Given the description of an element on the screen output the (x, y) to click on. 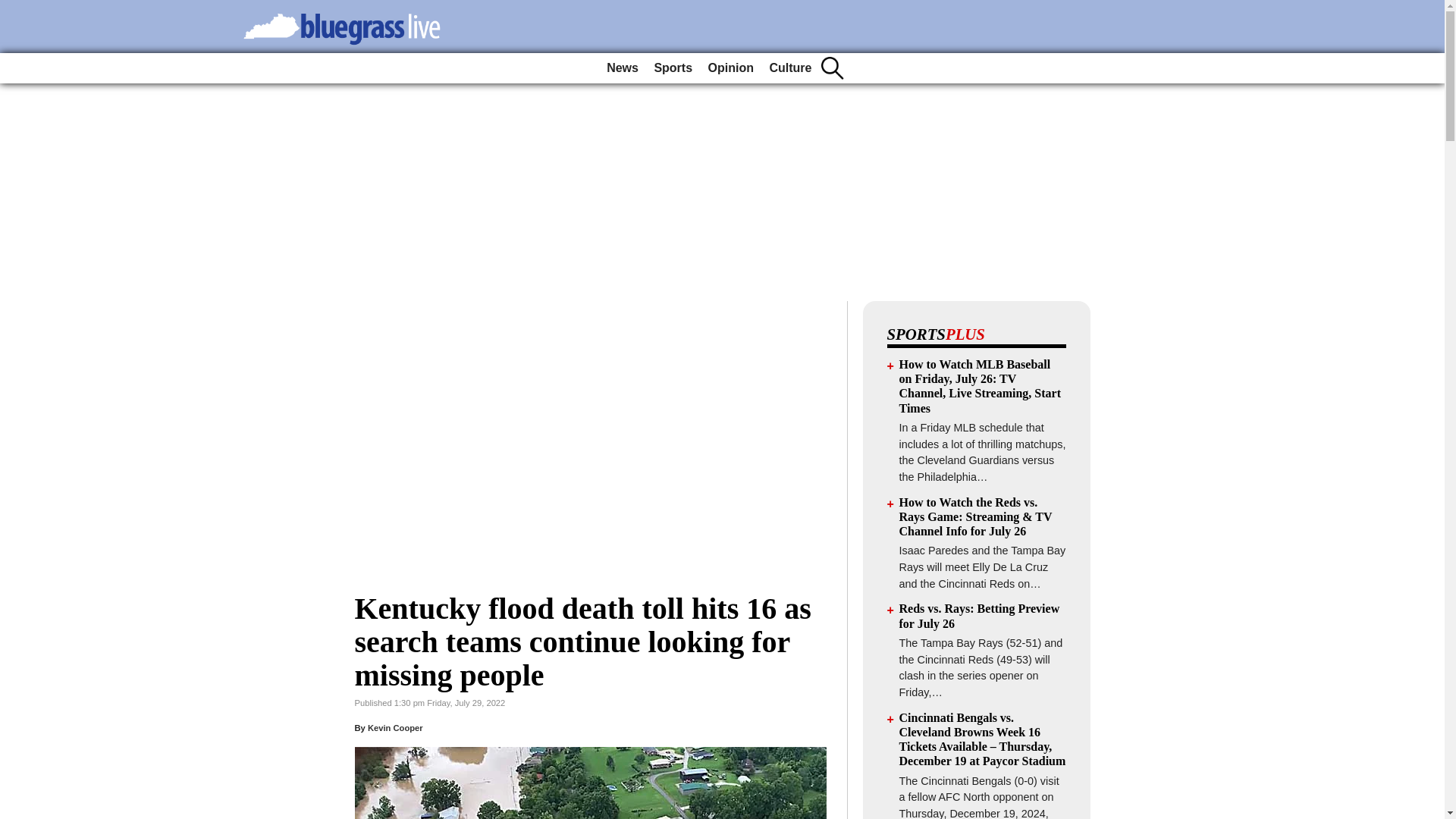
Kevin Cooper (395, 727)
Sports (672, 68)
News (622, 68)
Go (13, 9)
Culture (789, 68)
Opinion (730, 68)
Reds vs. Rays: Betting Preview for July 26 (979, 615)
